Given the description of an element on the screen output the (x, y) to click on. 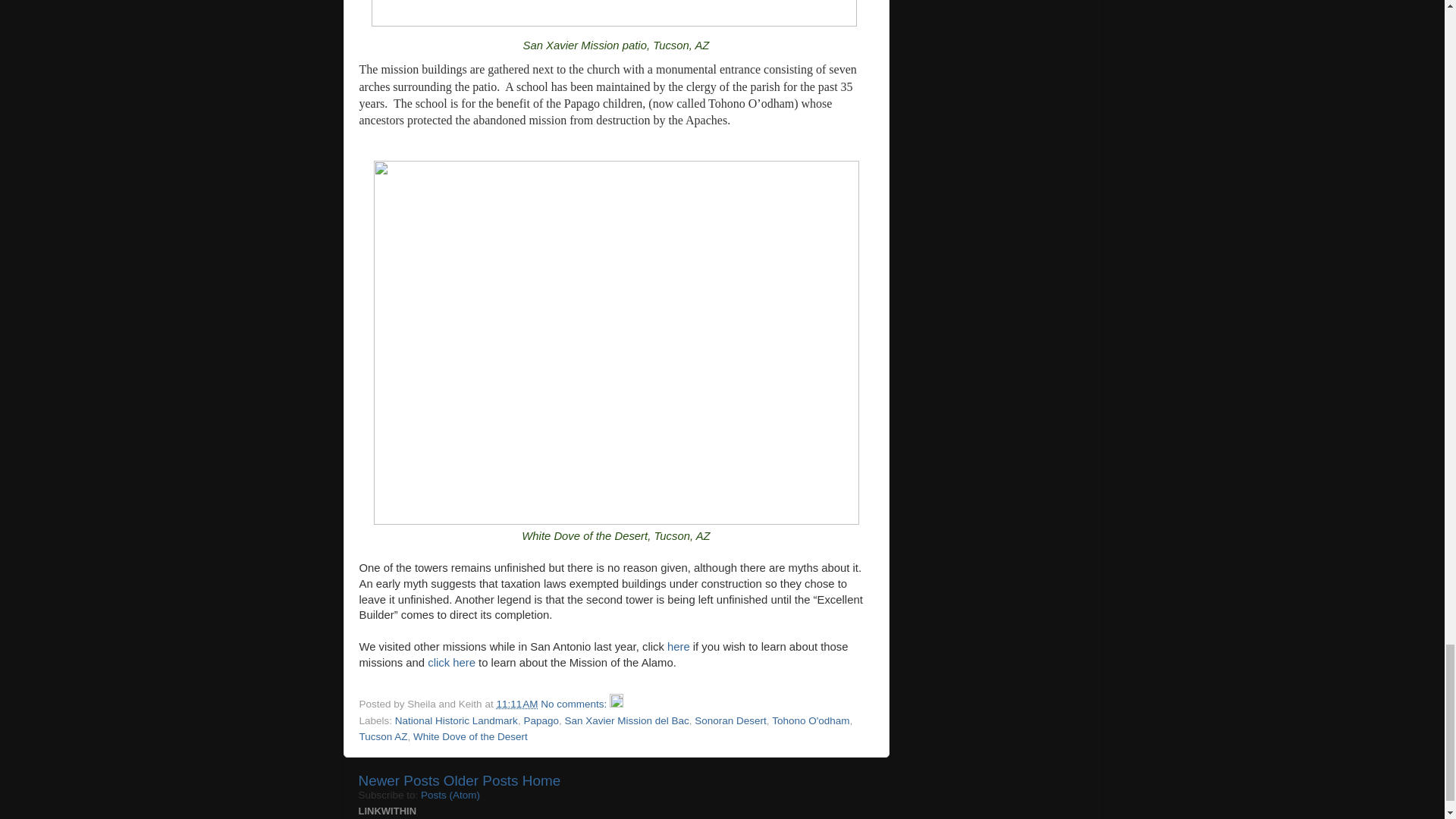
Newer Posts (398, 780)
permanent link (516, 704)
Older Posts (481, 780)
No comments: (575, 704)
National Historic Landmark (456, 720)
White Dove of the Desert (470, 736)
Tohono O'odham (809, 720)
Newer Posts (398, 780)
Edit Post (616, 704)
